Given the description of an element on the screen output the (x, y) to click on. 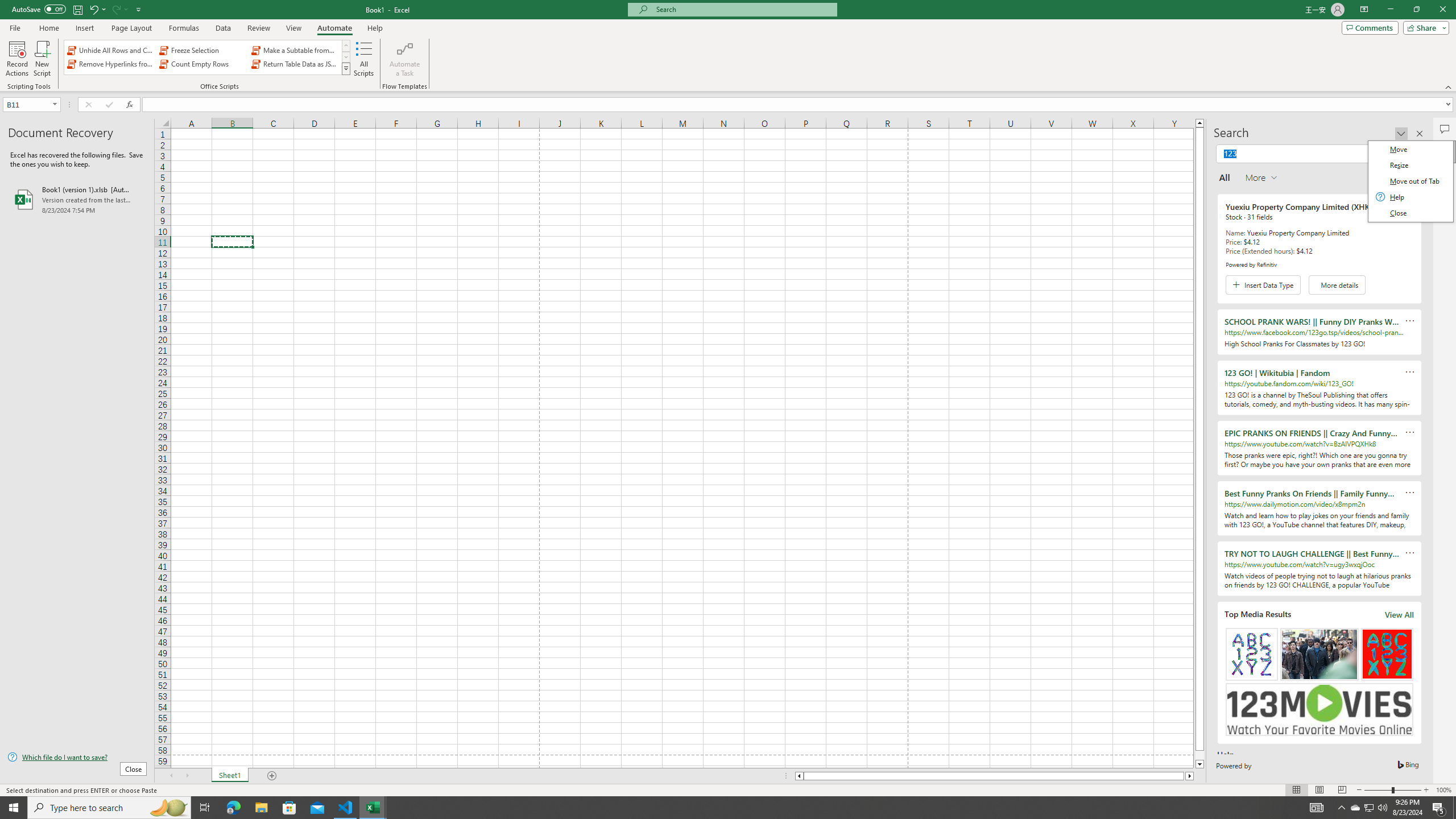
Count Empty Rows (202, 64)
